Given the description of an element on the screen output the (x, y) to click on. 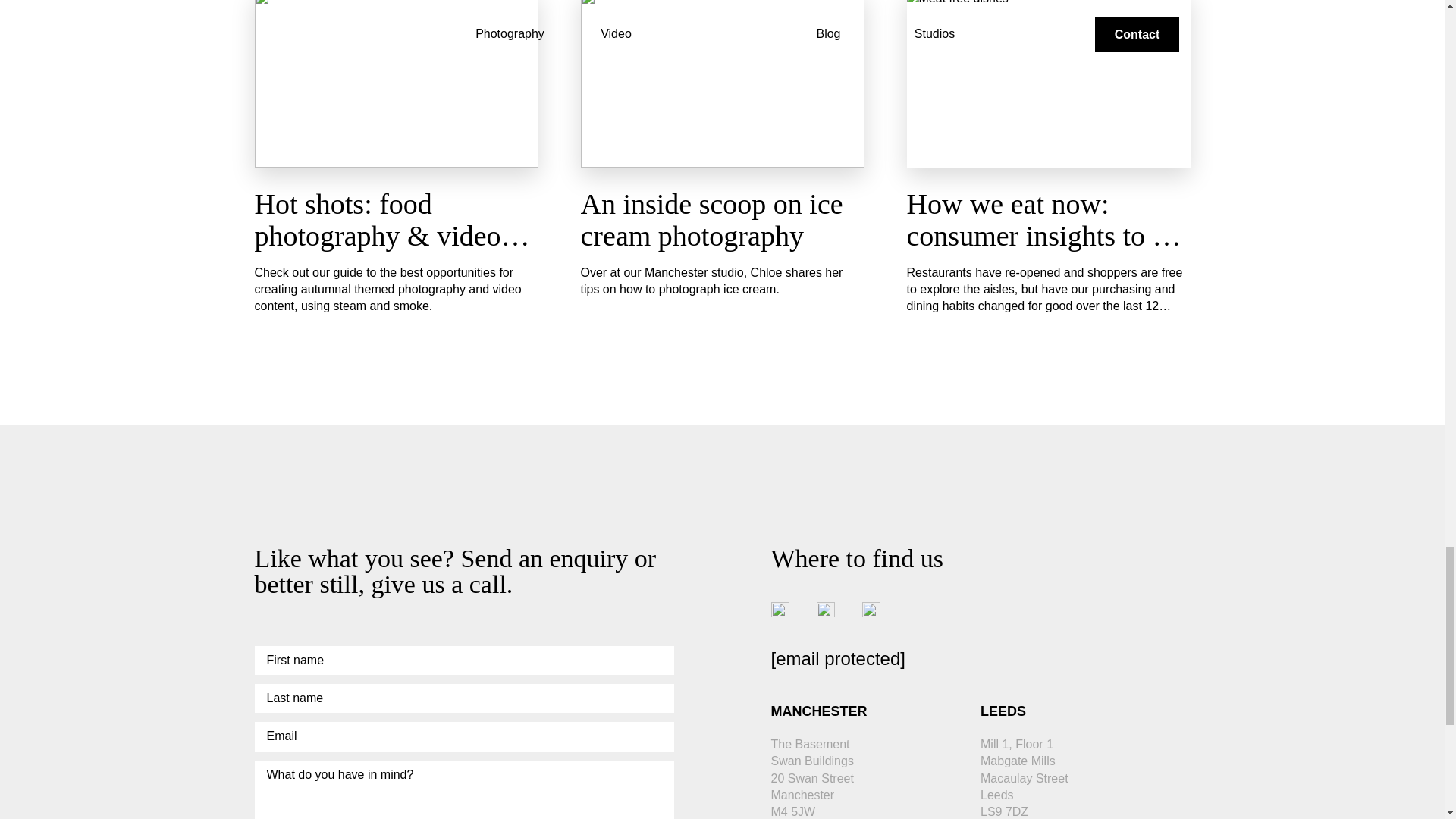
An inside scoop on ice cream photography (711, 219)
How we eat now: consumer insights to act on (1046, 235)
